Given the description of an element on the screen output the (x, y) to click on. 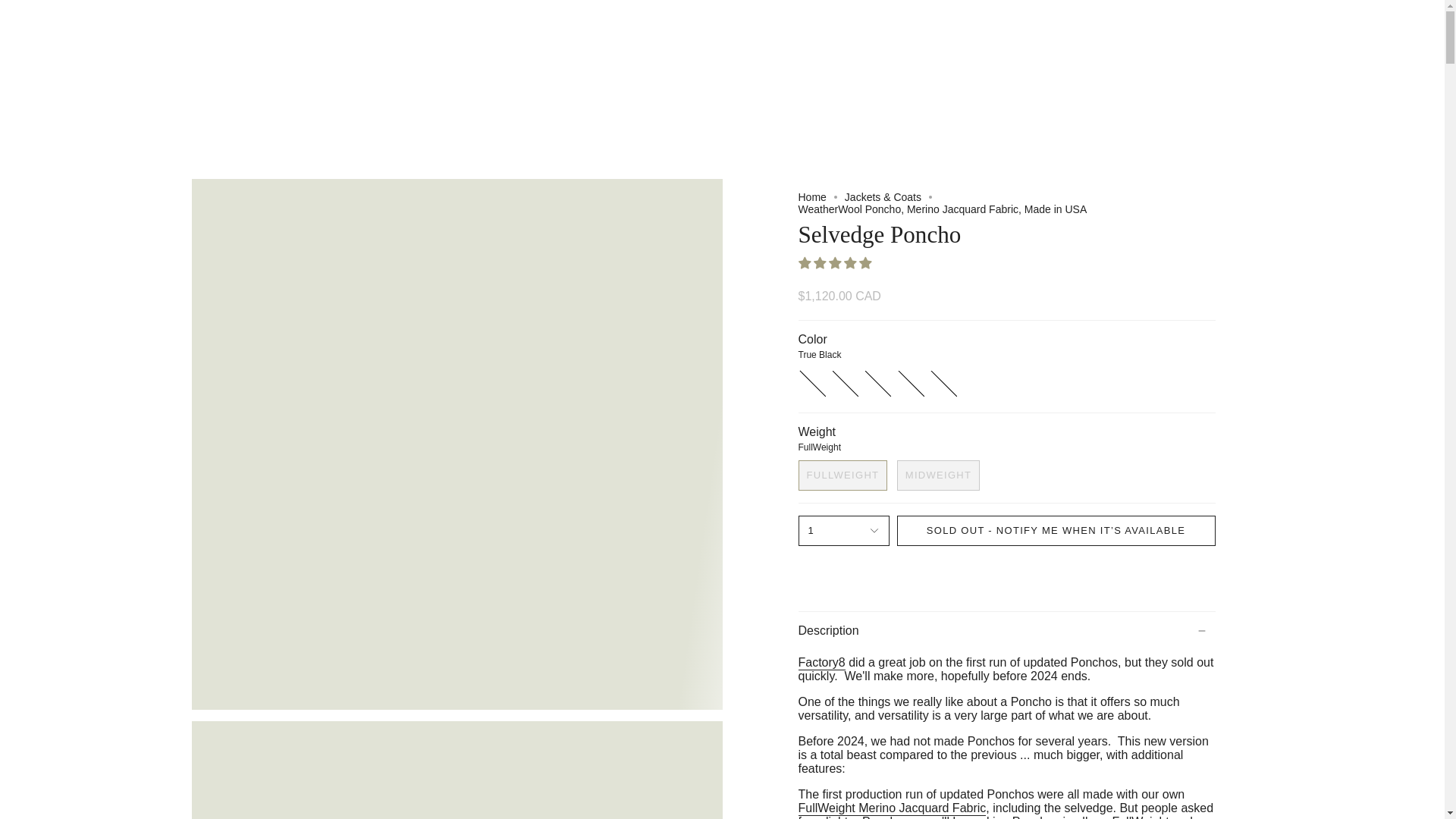
WeatherWool Full-Weight Merino Jacquard Fabric (891, 809)
